Given the description of an element on the screen output the (x, y) to click on. 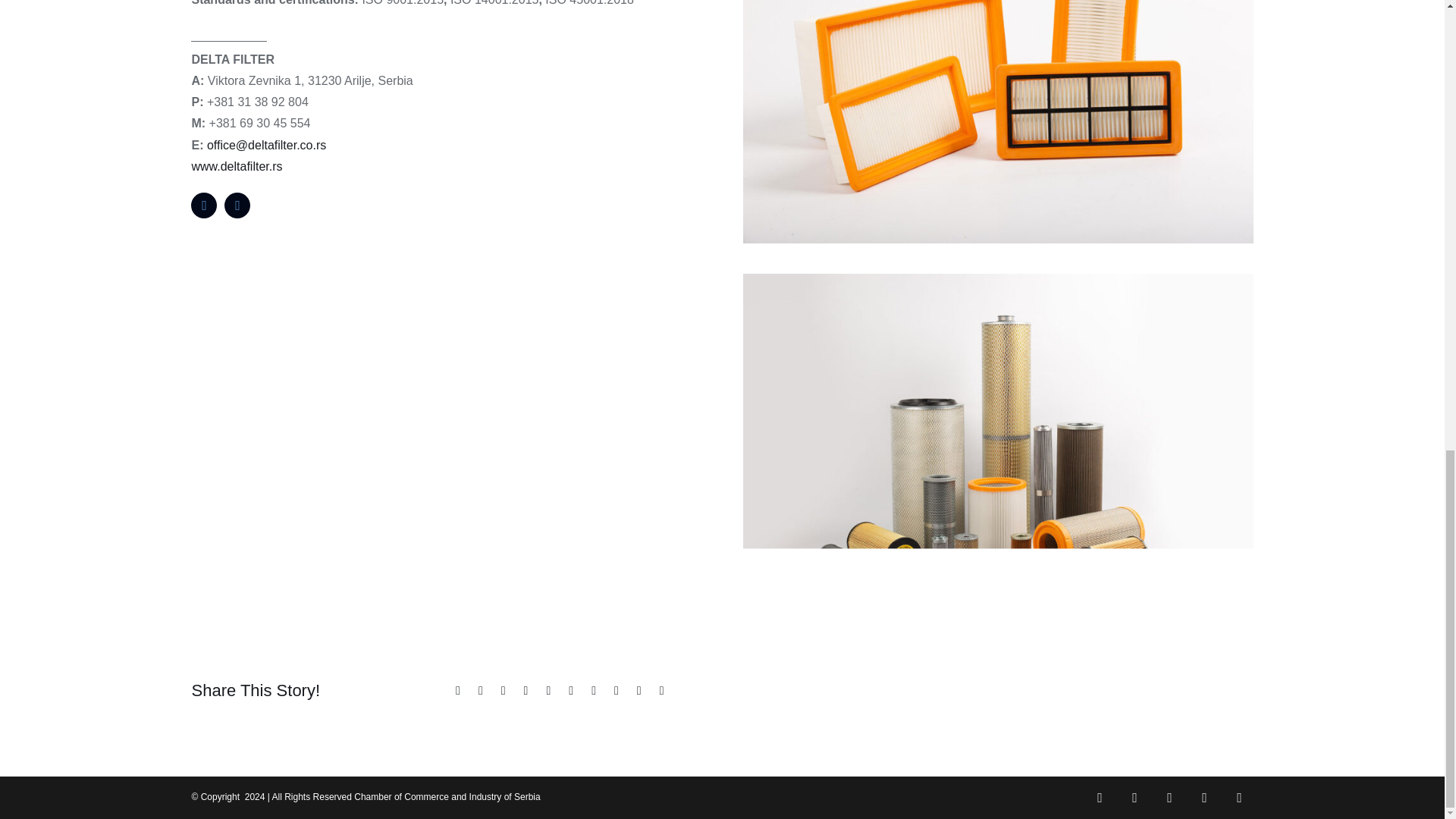
02delta (997, 278)
